Given the description of an element on the screen output the (x, y) to click on. 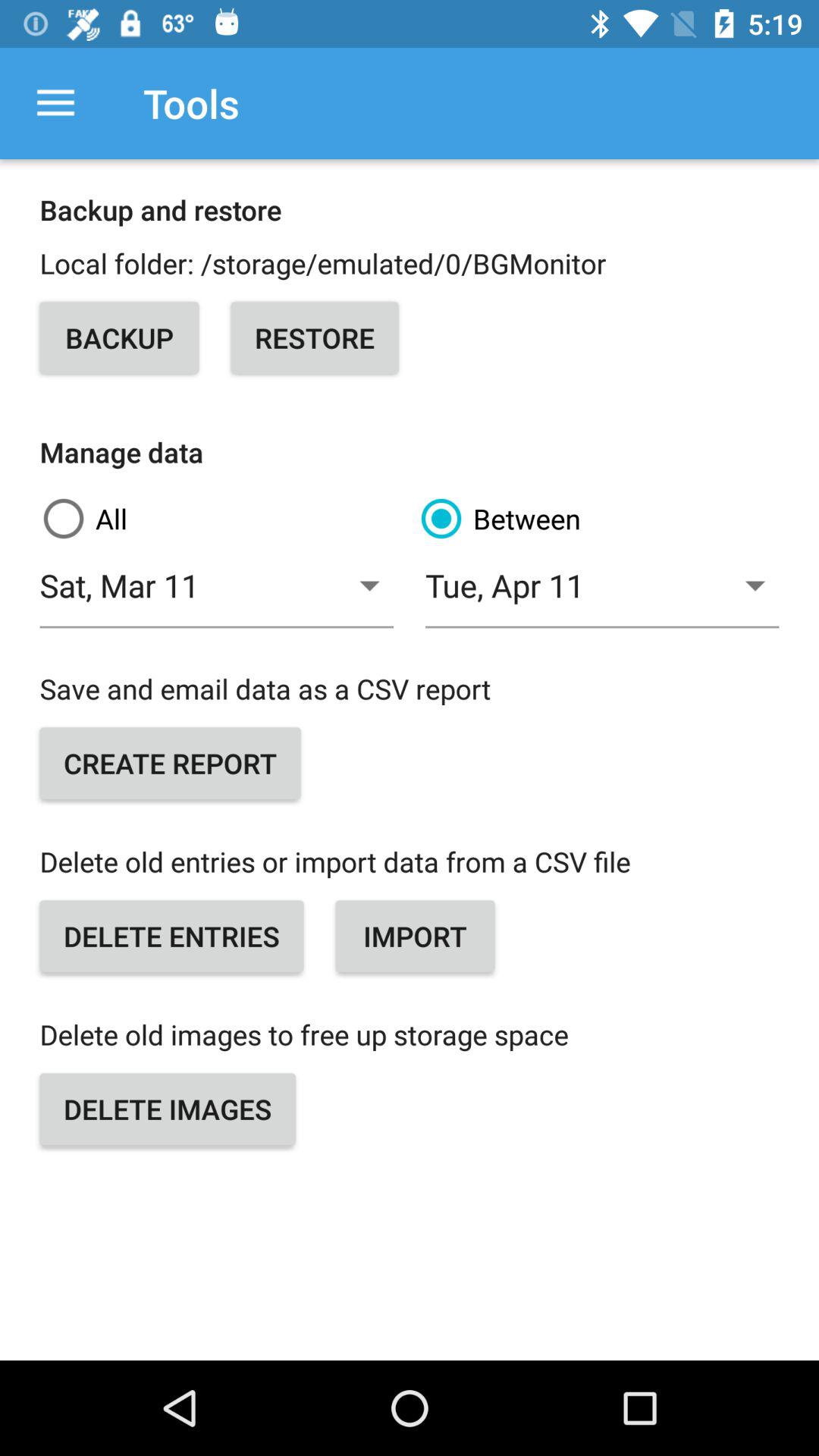
launch icon next to between item (220, 518)
